Given the description of an element on the screen output the (x, y) to click on. 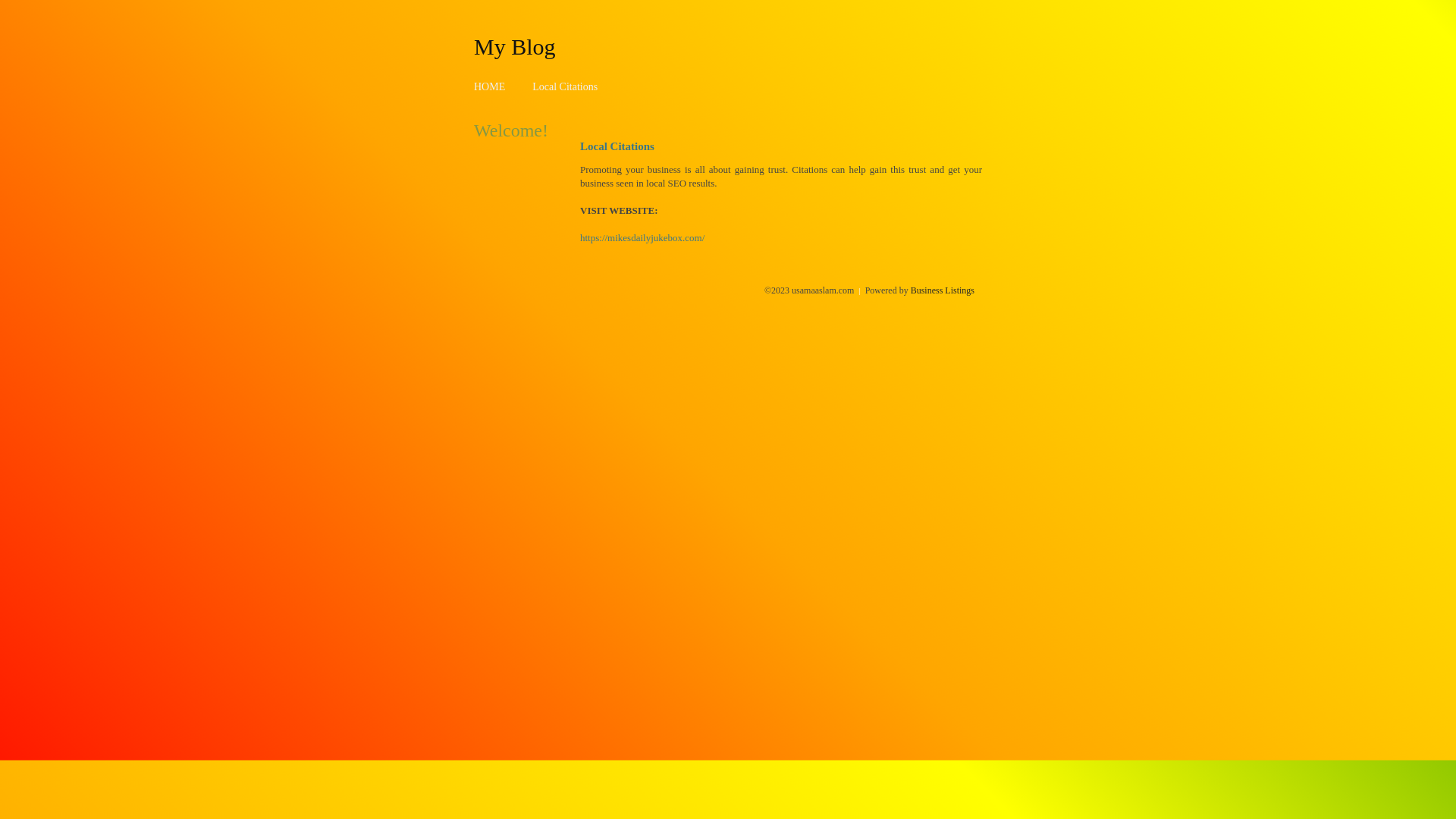
Local Citations Element type: text (564, 86)
My Blog Element type: text (514, 46)
https://mikesdailyjukebox.com/ Element type: text (642, 237)
HOME Element type: text (489, 86)
Business Listings Element type: text (942, 290)
